Given the description of an element on the screen output the (x, y) to click on. 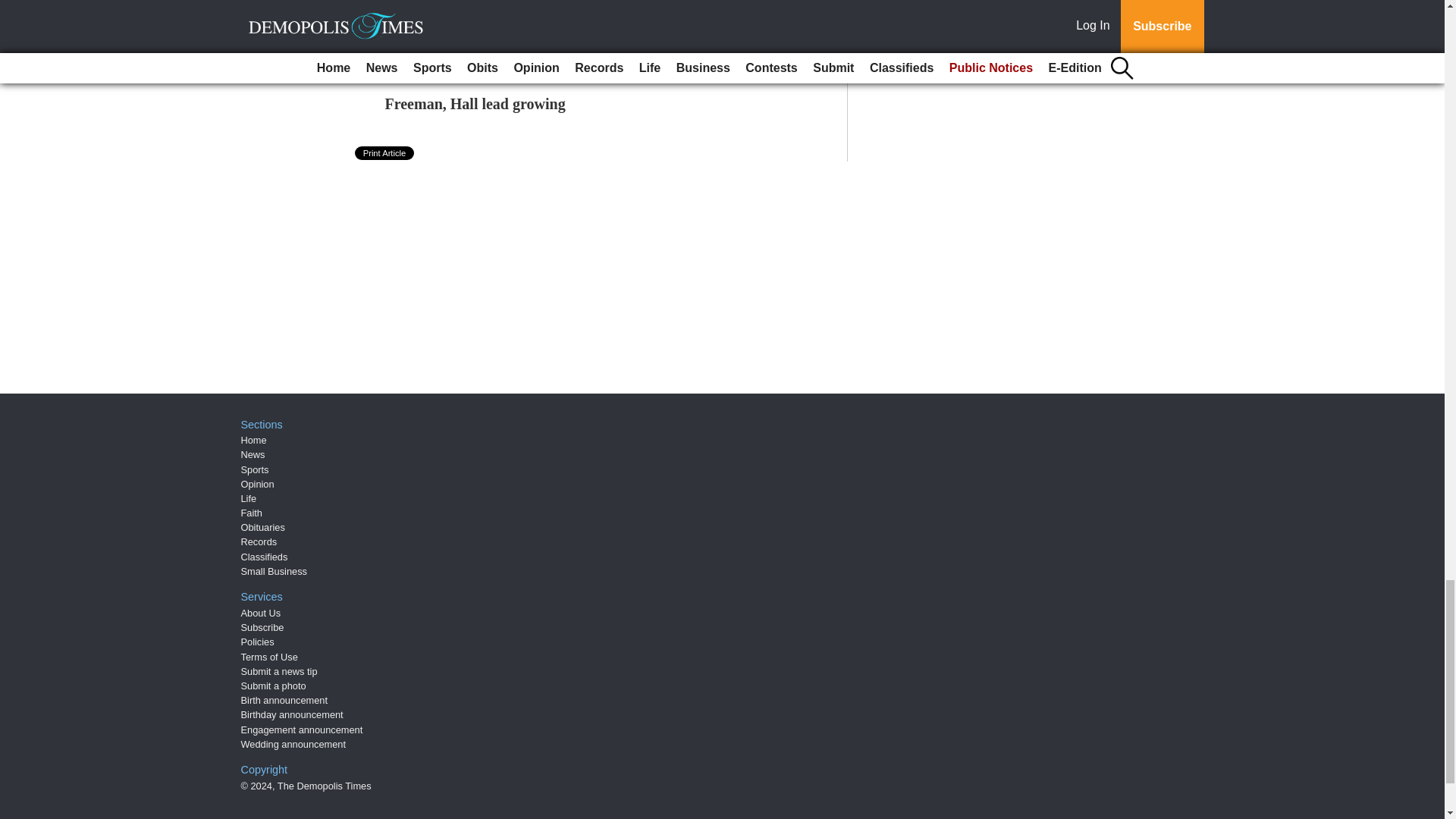
Freeman, Hall, Petrey win runoffs (495, 4)
Print Article (384, 152)
Sports (255, 469)
News (252, 454)
Opinion (258, 483)
Petrey takes D2 race; Hall and Freeman cling to large lead (573, 52)
Obituaries (263, 527)
Life (249, 498)
Faith (251, 512)
Freeman, Hall, Petrey win runoffs (495, 4)
Petrey takes D2 race; Hall and Freeman cling to large lead (573, 52)
Freeman, Hall lead growing (475, 103)
Freeman, Hall lead growing (475, 103)
Home (253, 439)
